Given the description of an element on the screen output the (x, y) to click on. 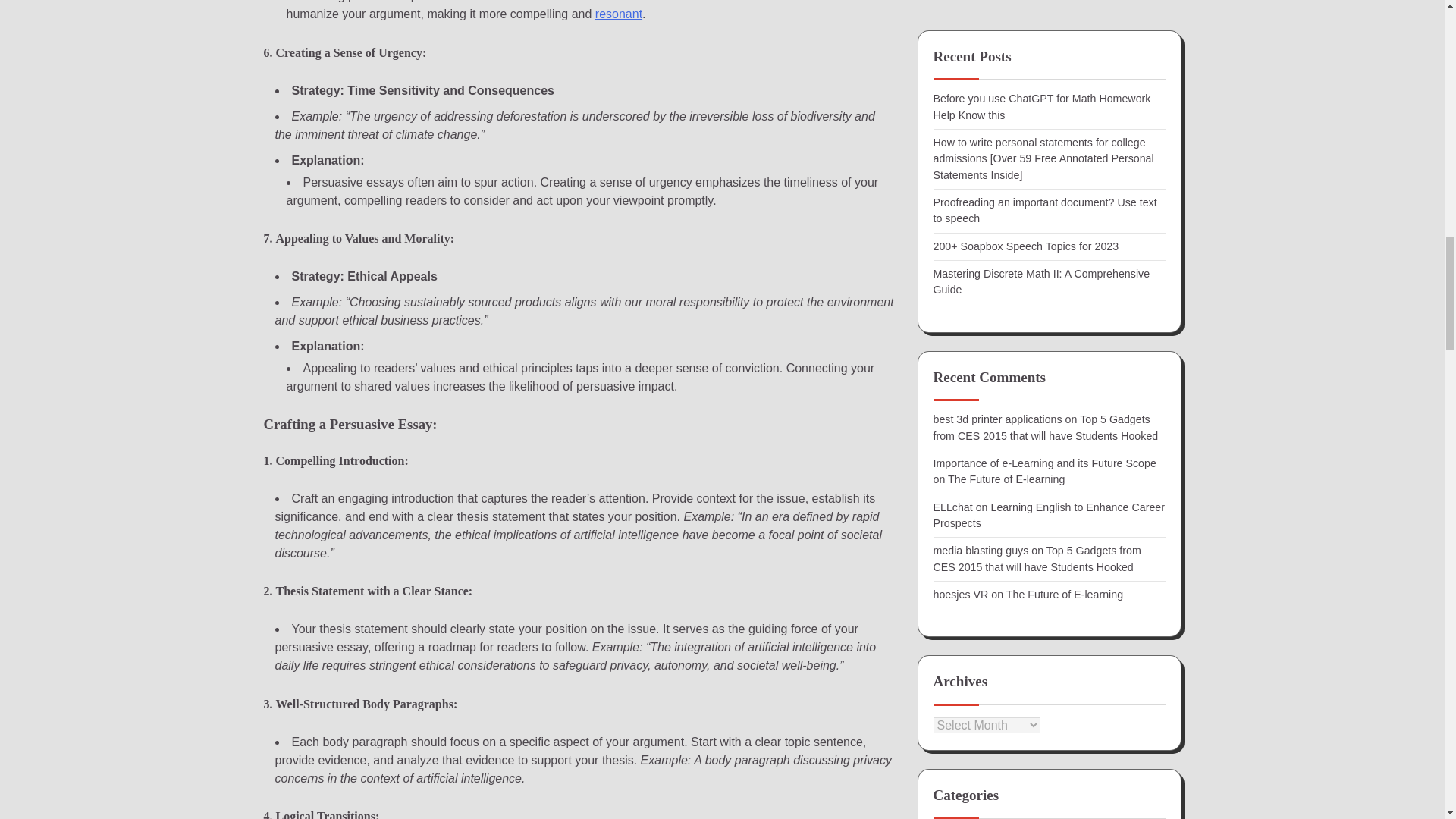
resonant (618, 13)
resonant (618, 13)
